Given the description of an element on the screen output the (x, y) to click on. 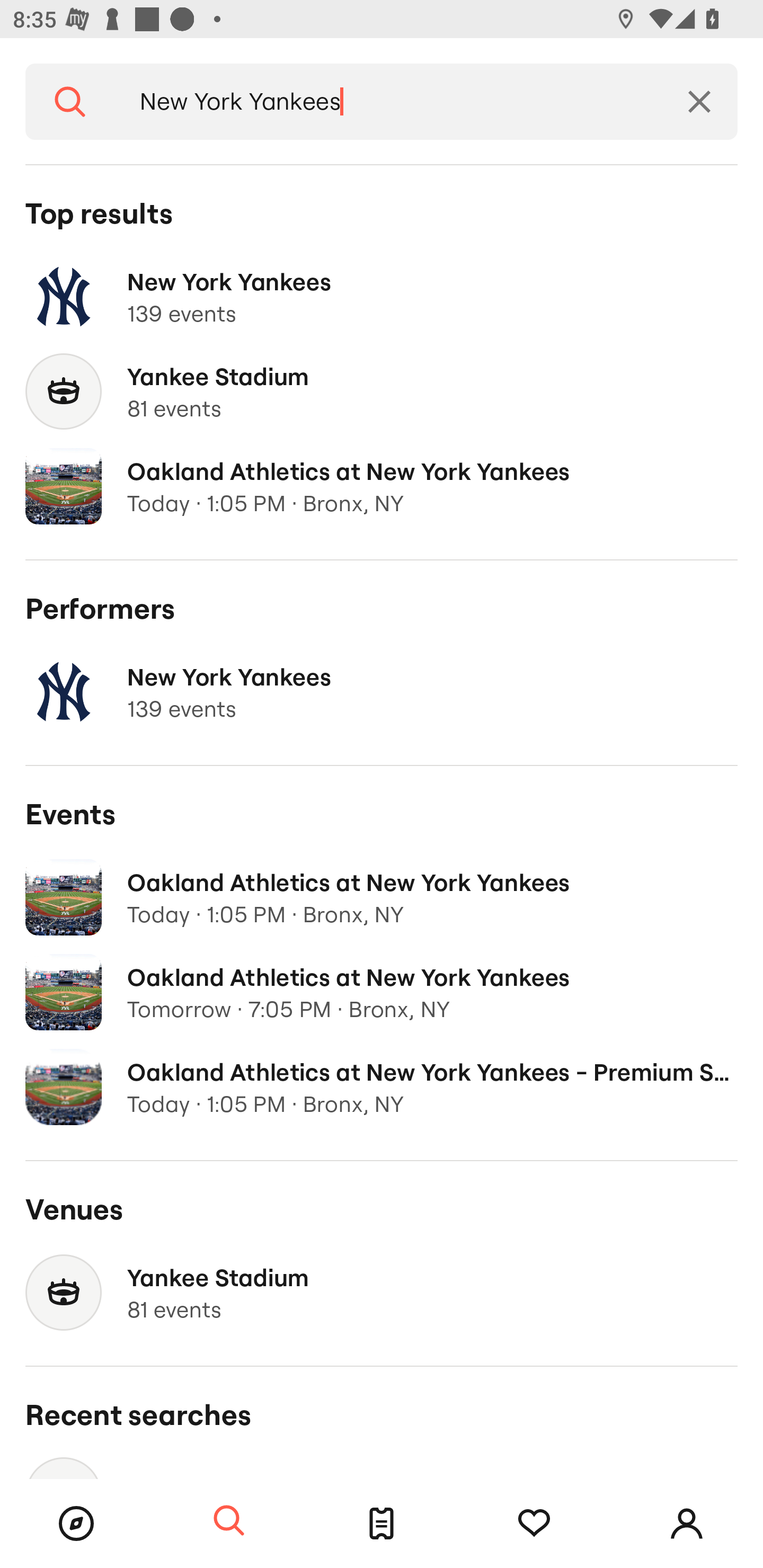
Search (69, 101)
New York Yankees (387, 101)
Clear (699, 101)
New York Yankees 139 events (381, 296)
Yankee Stadium 81 events (381, 391)
New York Yankees 139 events (381, 692)
Yankee Stadium 81 events (381, 1292)
Browse (76, 1523)
Search (228, 1521)
Tickets (381, 1523)
Tracking (533, 1523)
Account (686, 1523)
